Given the description of an element on the screen output the (x, y) to click on. 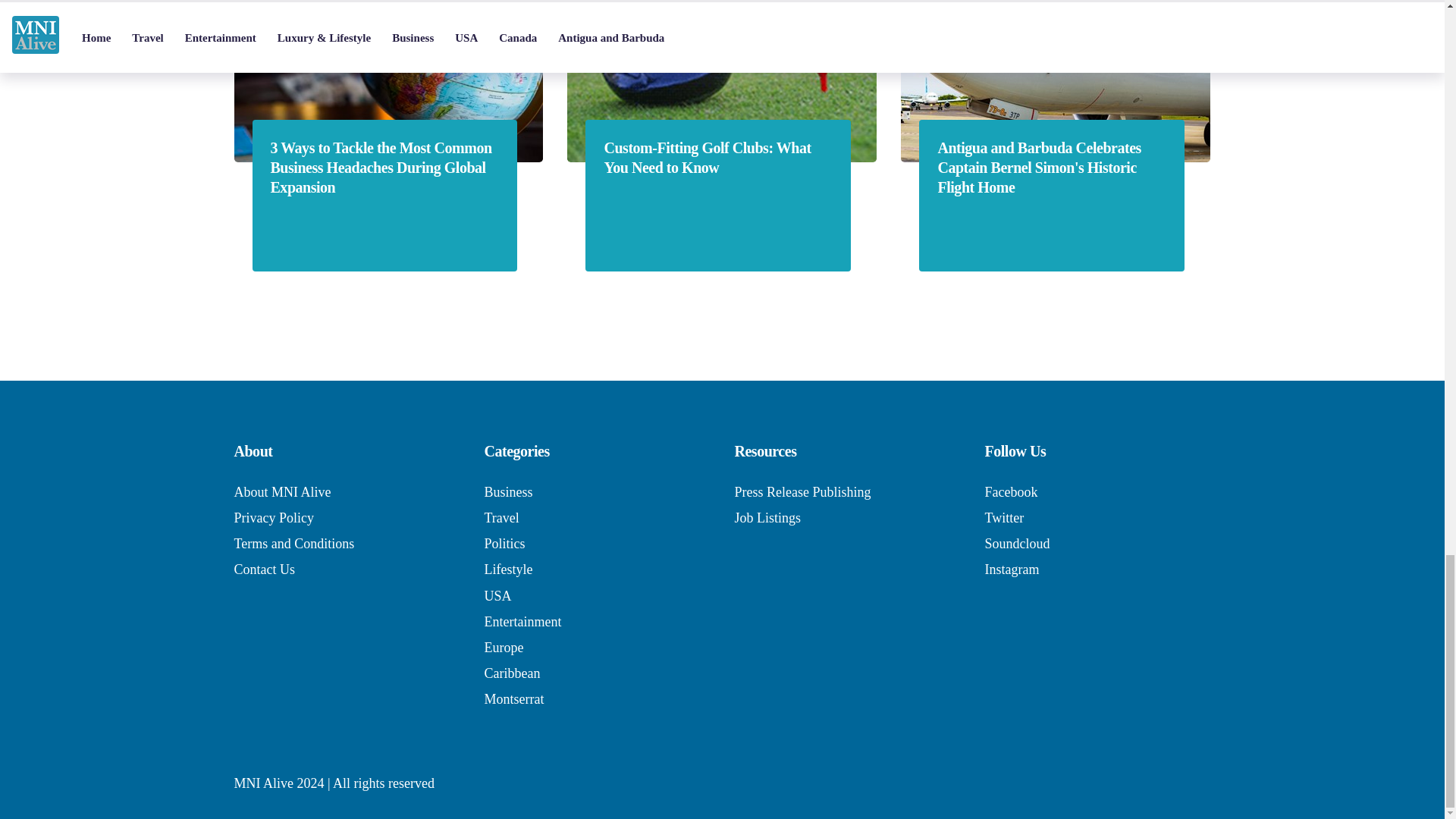
Instagram (1011, 569)
Politics (503, 543)
Facebook (1010, 491)
Twitter (1003, 517)
About MNI Alive (281, 491)
Caribbean (511, 672)
Montserrat (513, 698)
Europe (502, 647)
USA (497, 595)
Travel (500, 517)
Job Listings (766, 517)
Custom-Fitting Golf Clubs: What You Need to Know (717, 157)
Contact Us (263, 569)
Terms and Conditions (292, 543)
